Given the description of an element on the screen output the (x, y) to click on. 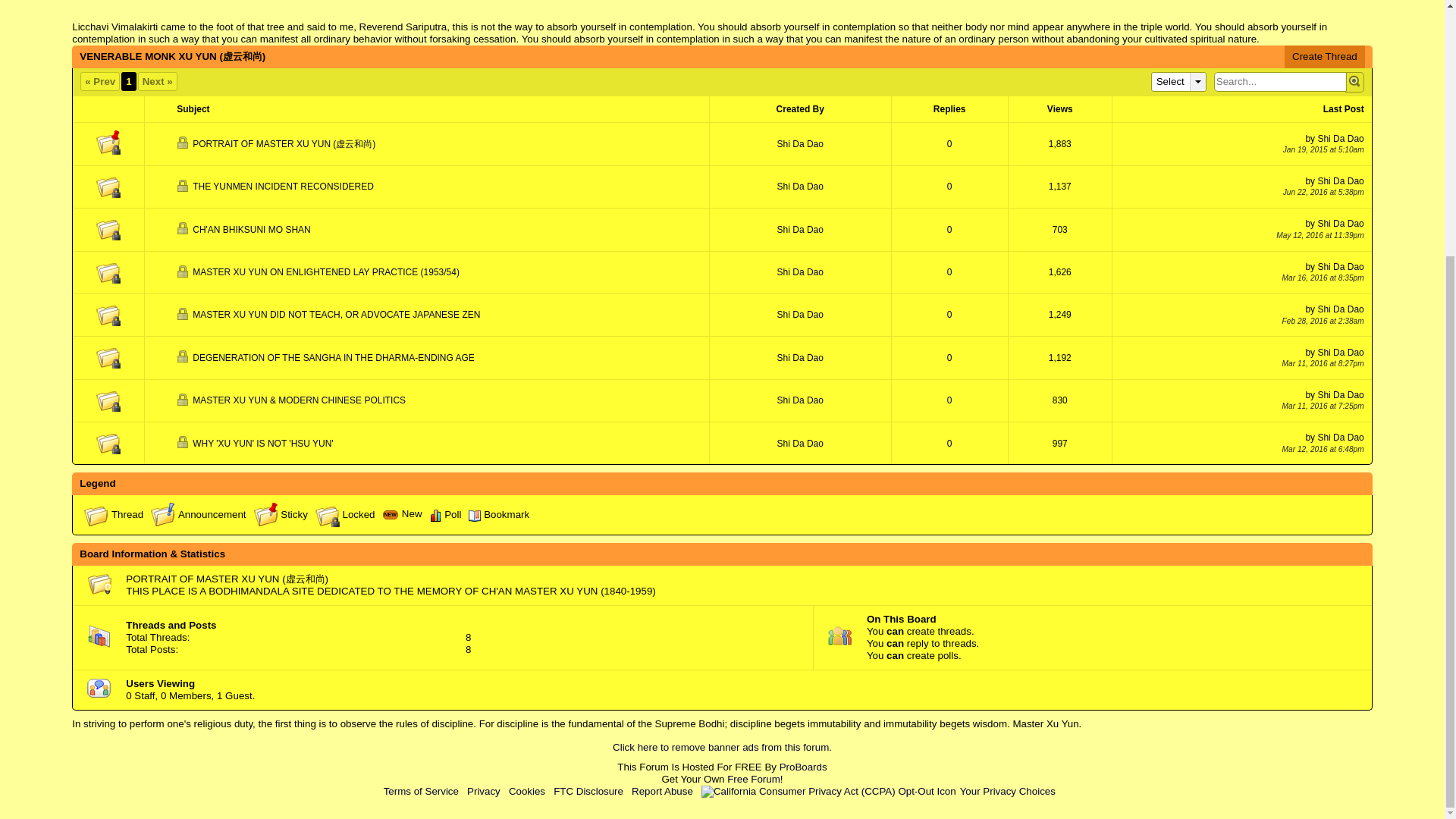
Thread Locked (108, 185)
This thread is locked (184, 142)
This thread is locked (184, 185)
Thread Locked Sticky (108, 142)
